Given the description of an element on the screen output the (x, y) to click on. 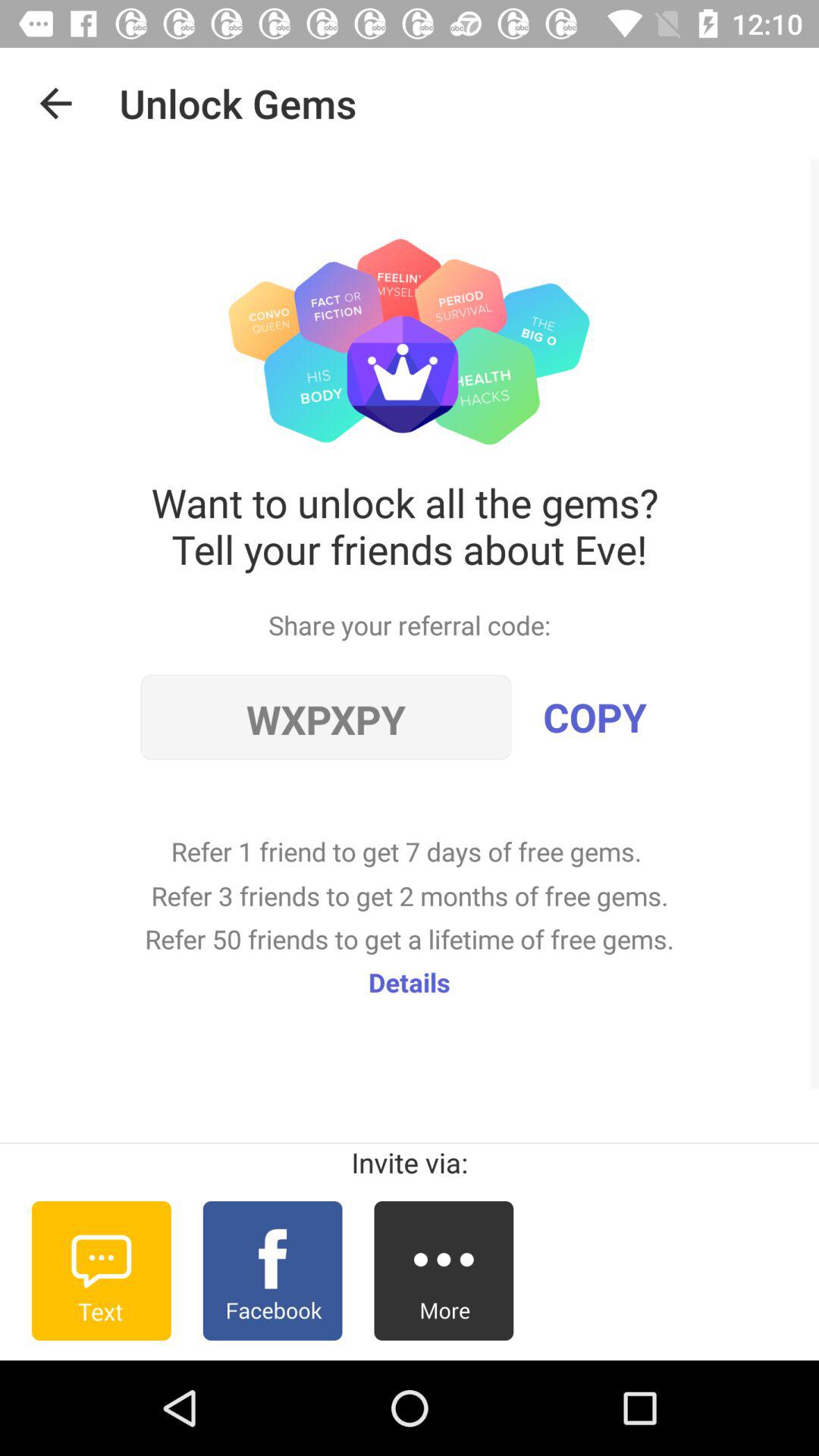
turn on the details (409, 981)
